Given the description of an element on the screen output the (x, y) to click on. 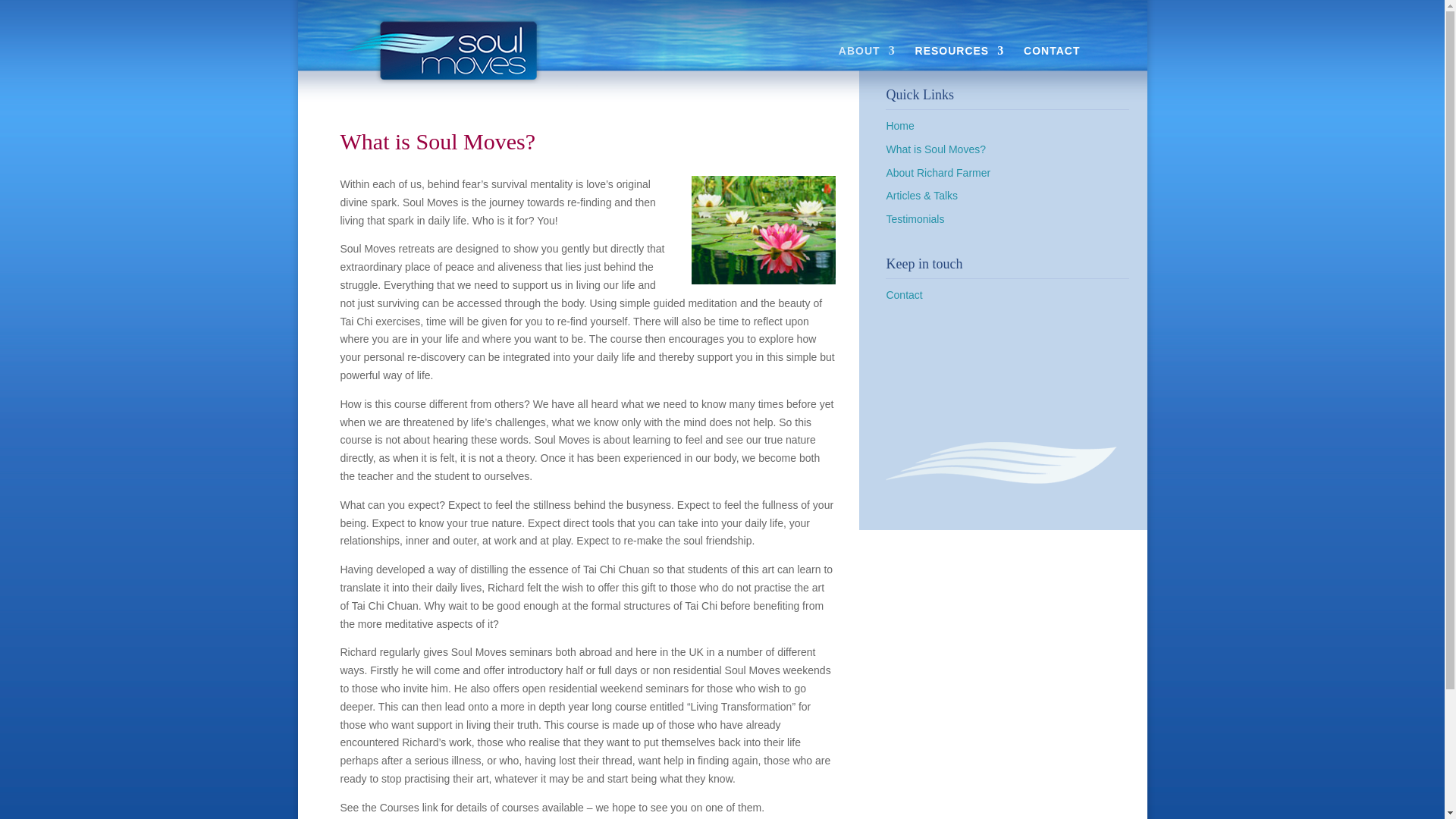
RESOURCES (959, 58)
ABOUT (866, 58)
CONTACT (1051, 73)
Contact (903, 295)
What is Soul Moves? (935, 149)
Home (899, 125)
About Richard Farmer (937, 173)
Testimonials (914, 218)
